Given the description of an element on the screen output the (x, y) to click on. 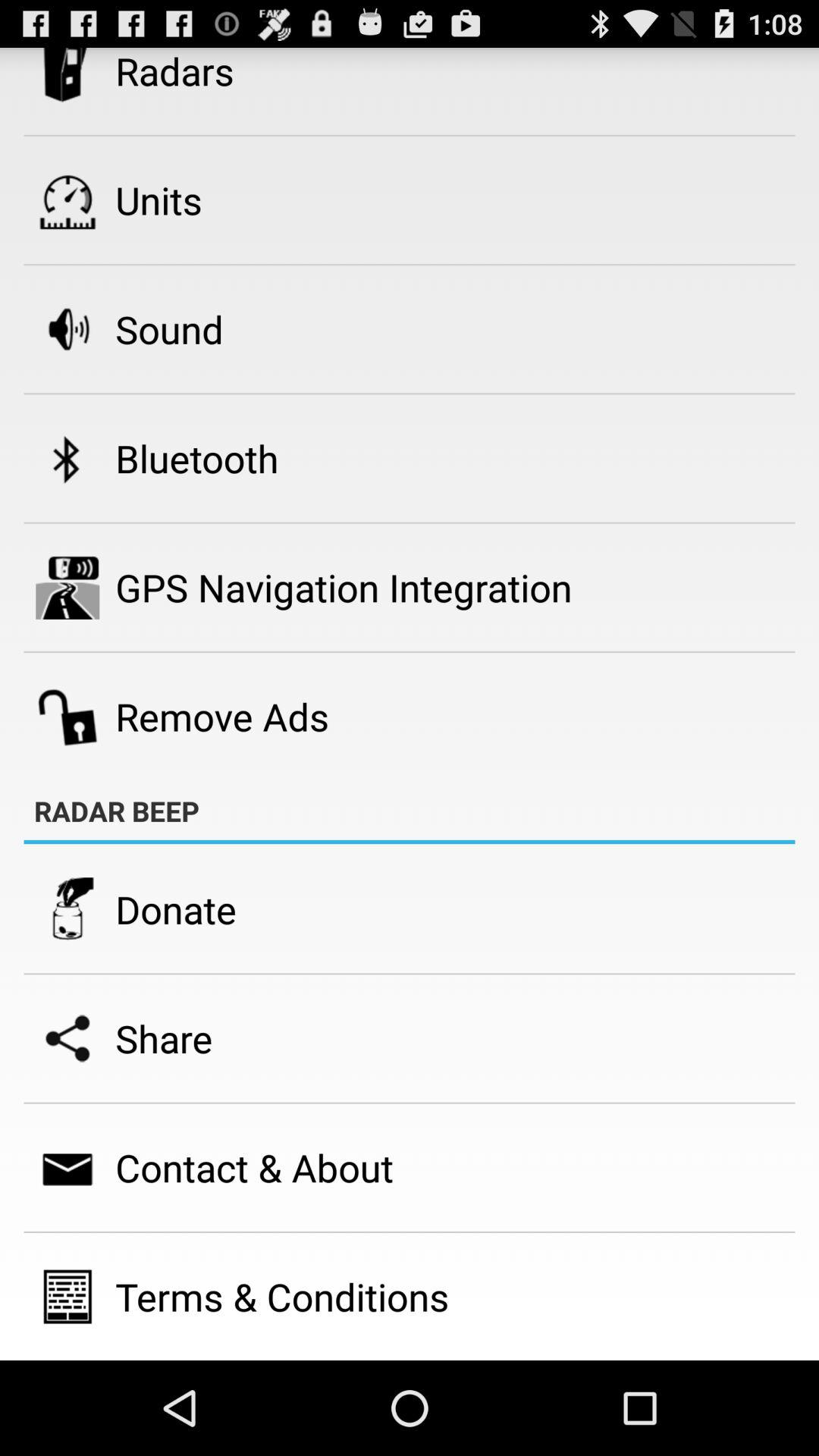
click on the icon beside units (67, 199)
click on icon beside terms  conditions (67, 1297)
click on the message icon from the bottom of the page (67, 1167)
click on the icon beside gps navigation integration (67, 588)
